Given the description of an element on the screen output the (x, y) to click on. 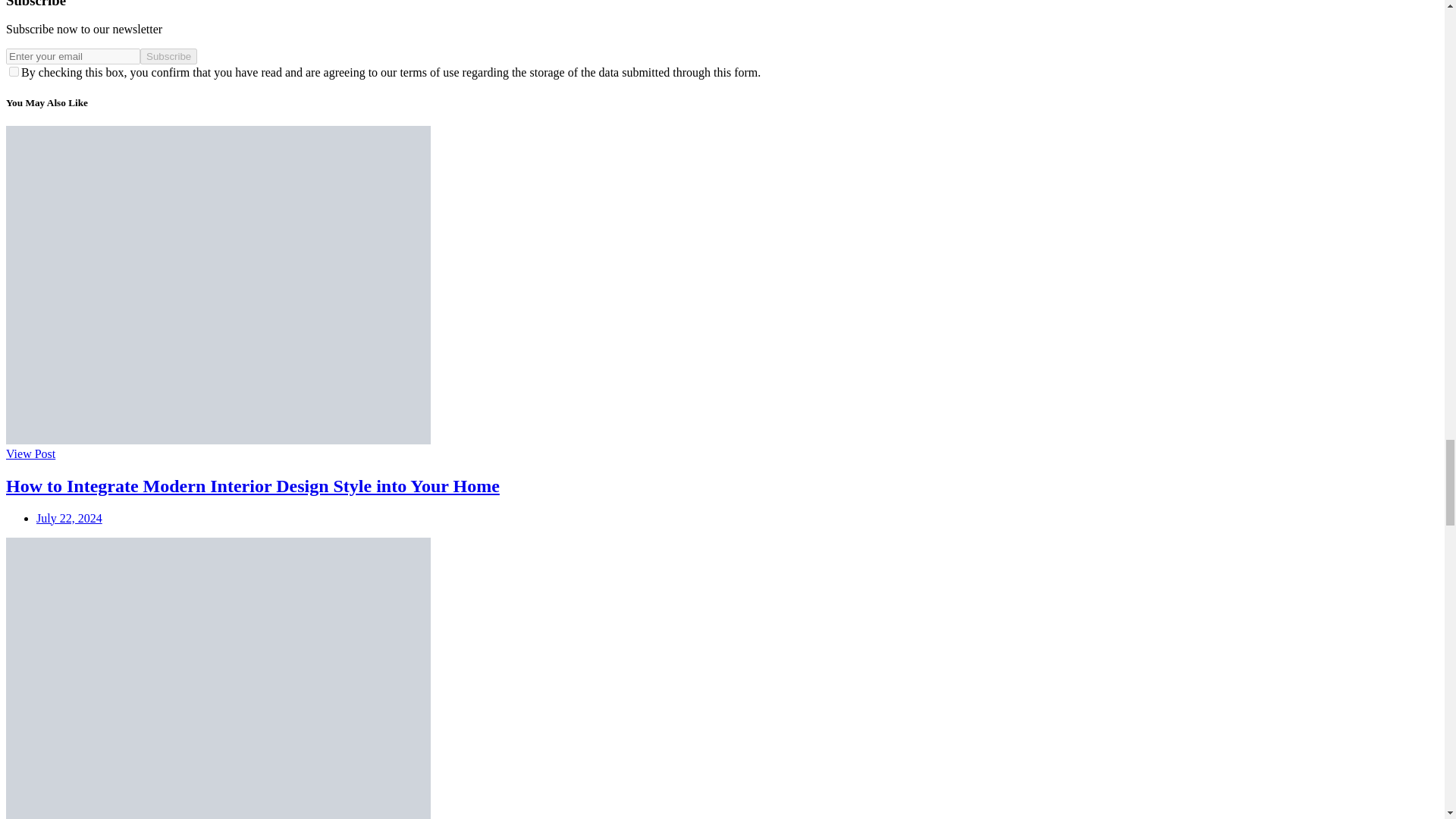
on (13, 71)
